Given the description of an element on the screen output the (x, y) to click on. 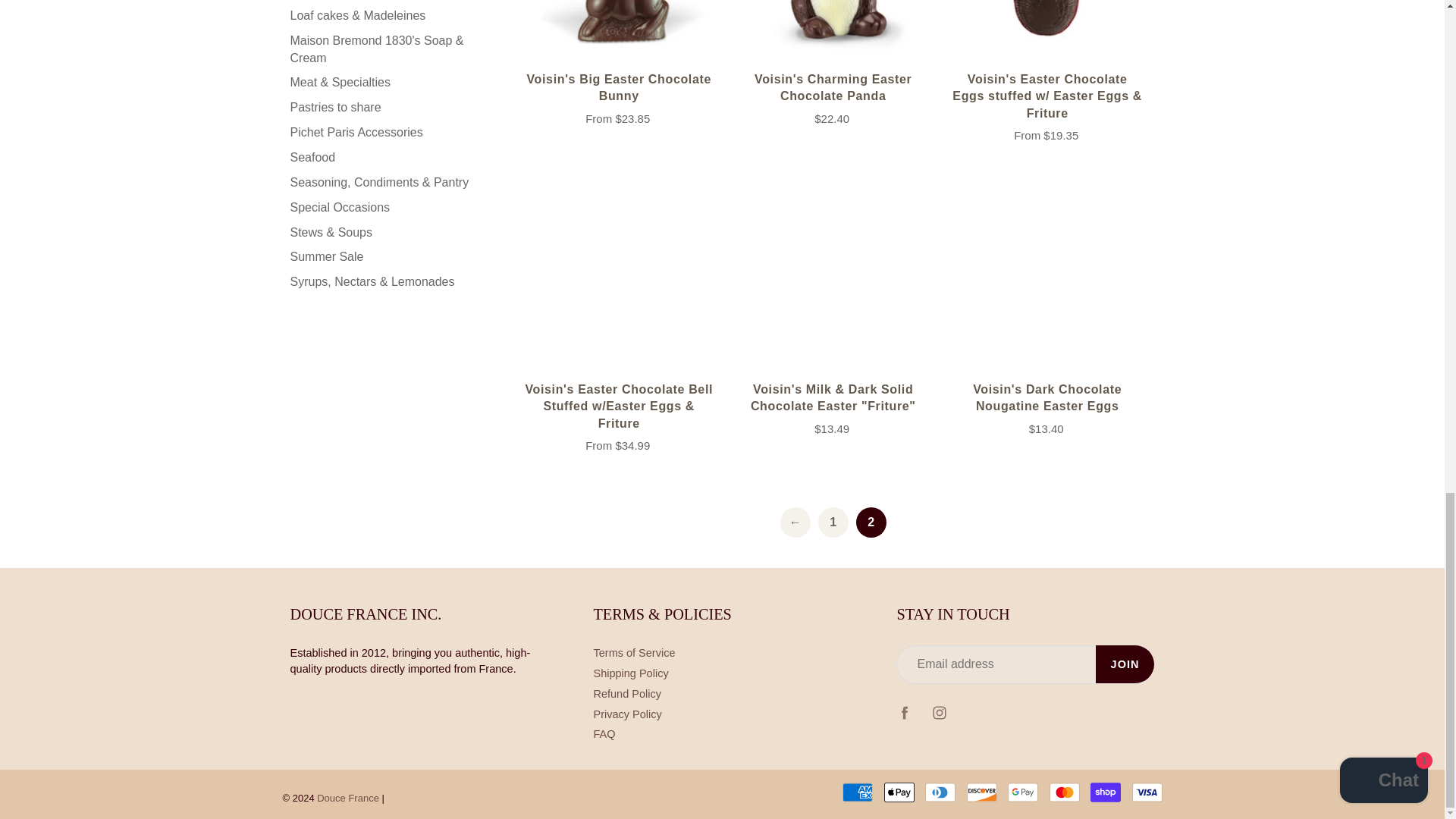
Shop Pay (1105, 792)
Discover (981, 792)
Visa (1146, 792)
Diners Club (939, 792)
American Express (857, 792)
Apple Pay (898, 792)
Google Pay (1022, 792)
Mastercard (1064, 792)
